Given the description of an element on the screen output the (x, y) to click on. 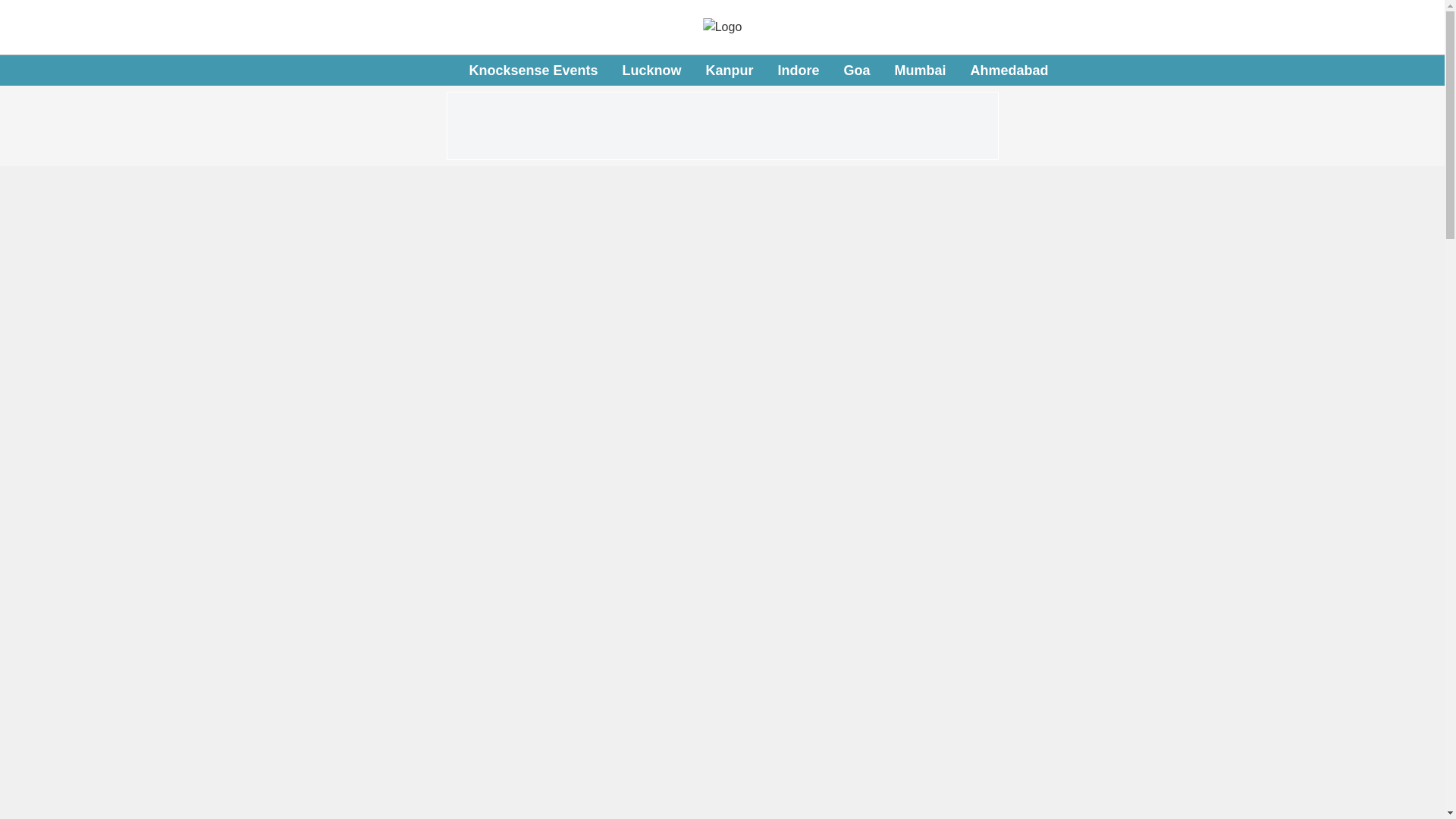
Mumbai (920, 70)
Knocksense Events (532, 70)
Kanpur (728, 70)
Indore (798, 70)
Goa (857, 70)
Lucknow (758, 70)
Ahmedabad (651, 70)
